Given the description of an element on the screen output the (x, y) to click on. 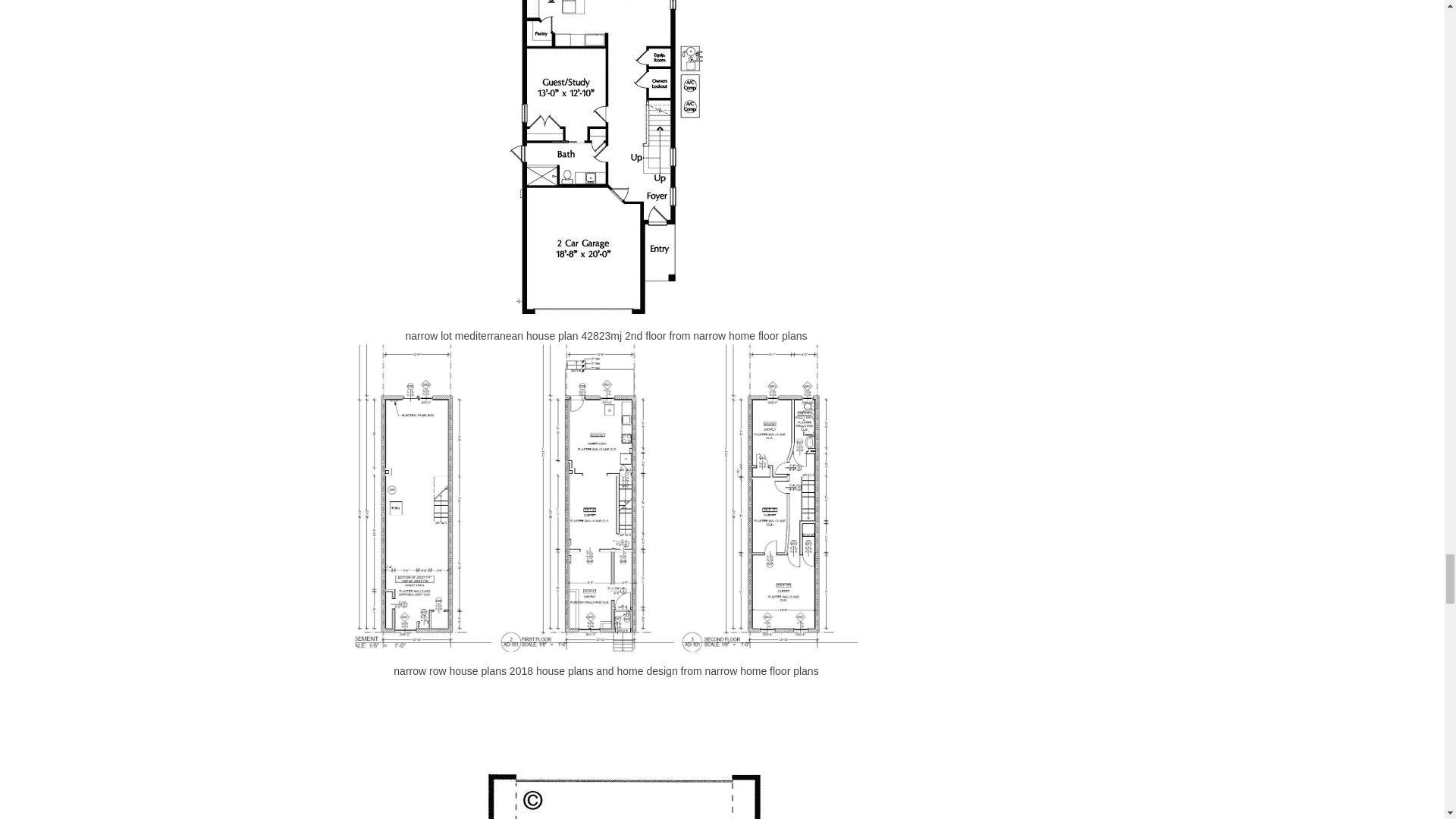
narrow lot mediterranean house plan 42823mj 2nd floor (605, 158)
best 25 narrow house plans ideas that you will like on (606, 749)
